Given the description of an element on the screen output the (x, y) to click on. 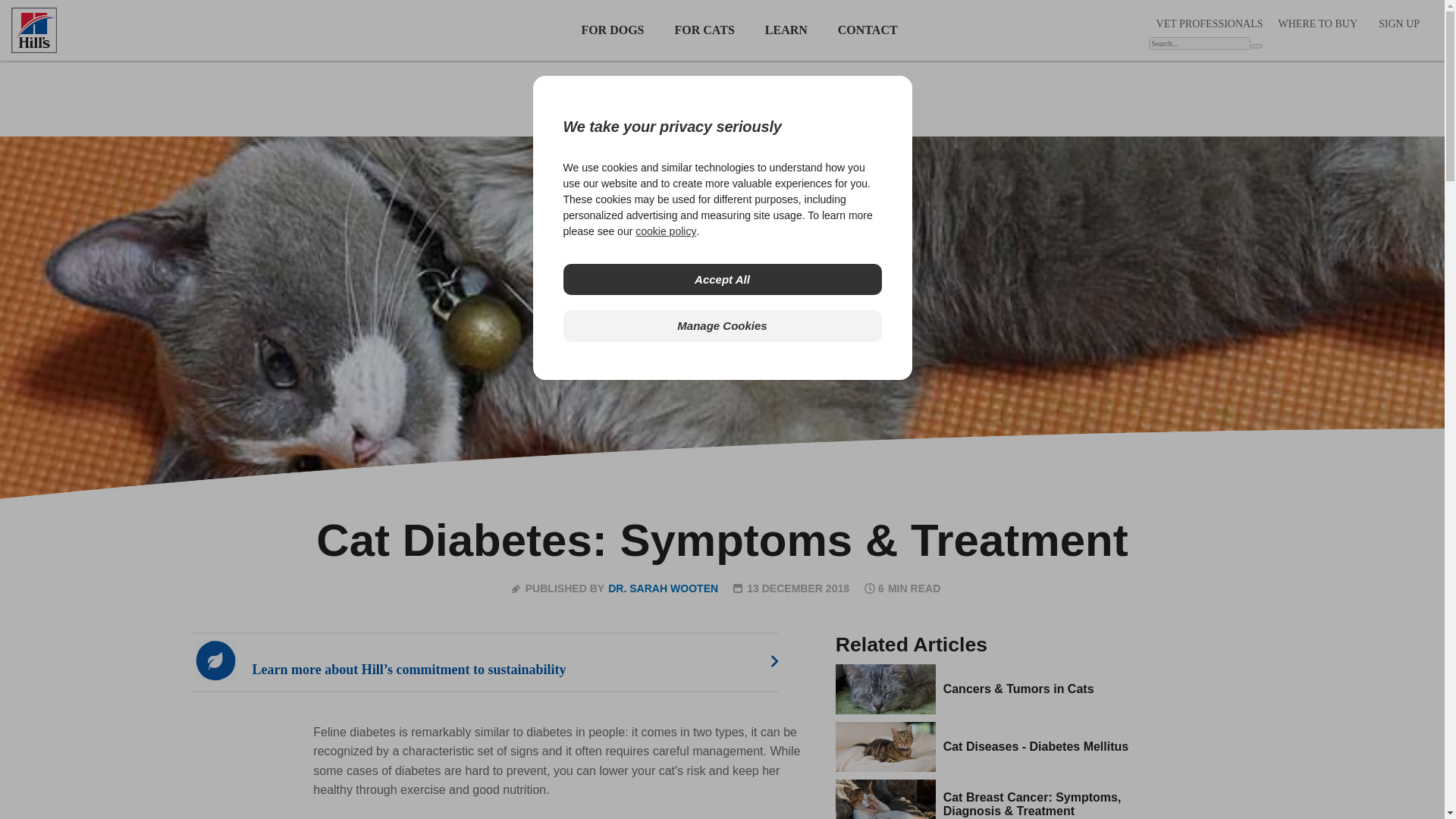
Accept All (721, 278)
Learn more about sustainability (496, 662)
Manage Cookies (721, 325)
Authors and Contributors (662, 588)
cookie policy (664, 231)
